Given the description of an element on the screen output the (x, y) to click on. 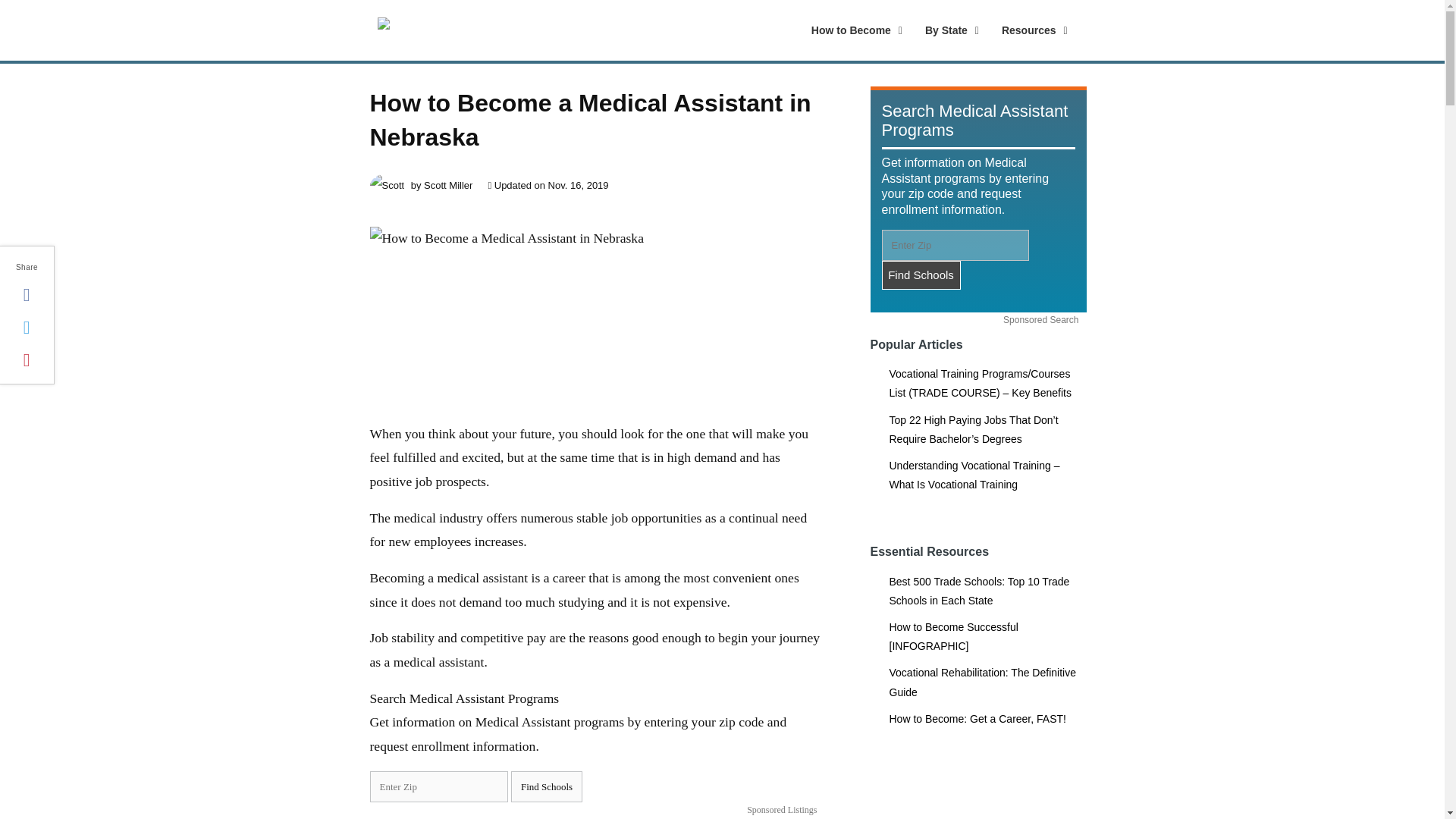
How to Become (853, 30)
Find Schools (919, 275)
Find Schools (935, 30)
By State (546, 786)
